Given the description of an element on the screen output the (x, y) to click on. 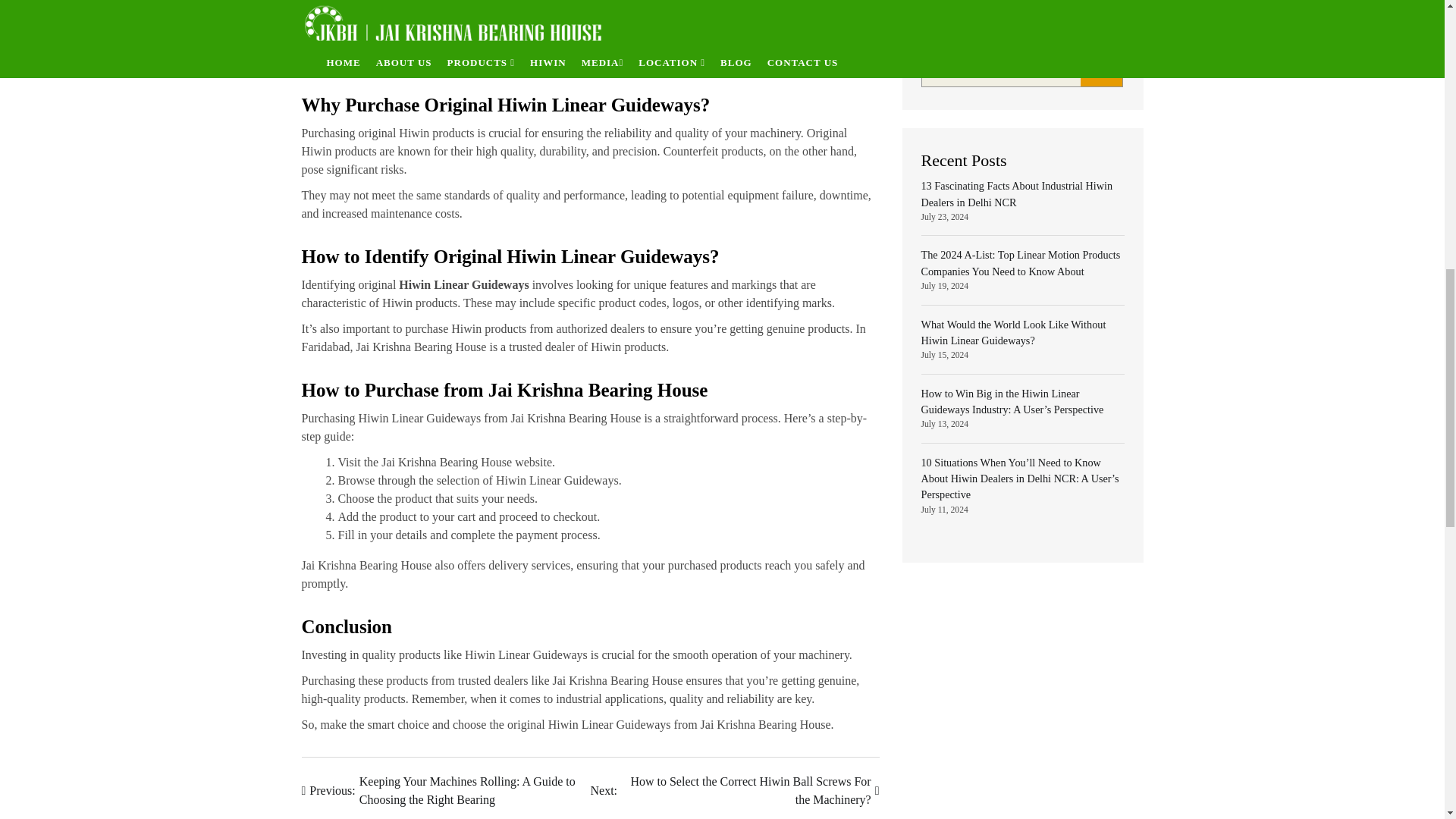
Hiwin Linear Guideways (463, 284)
